Given the description of an element on the screen output the (x, y) to click on. 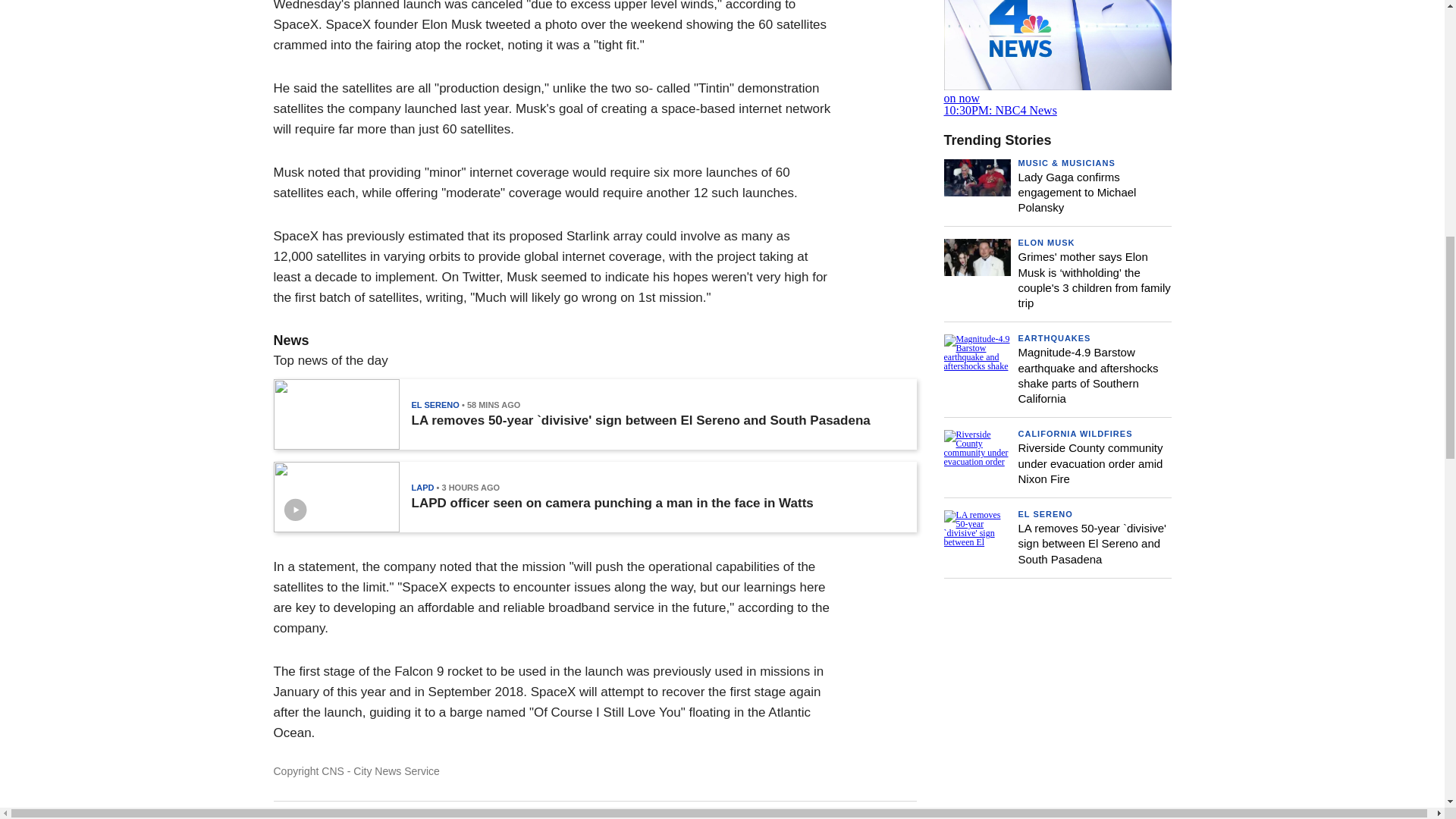
EL SERENO (434, 404)
LAPD (421, 487)
